Given the description of an element on the screen output the (x, y) to click on. 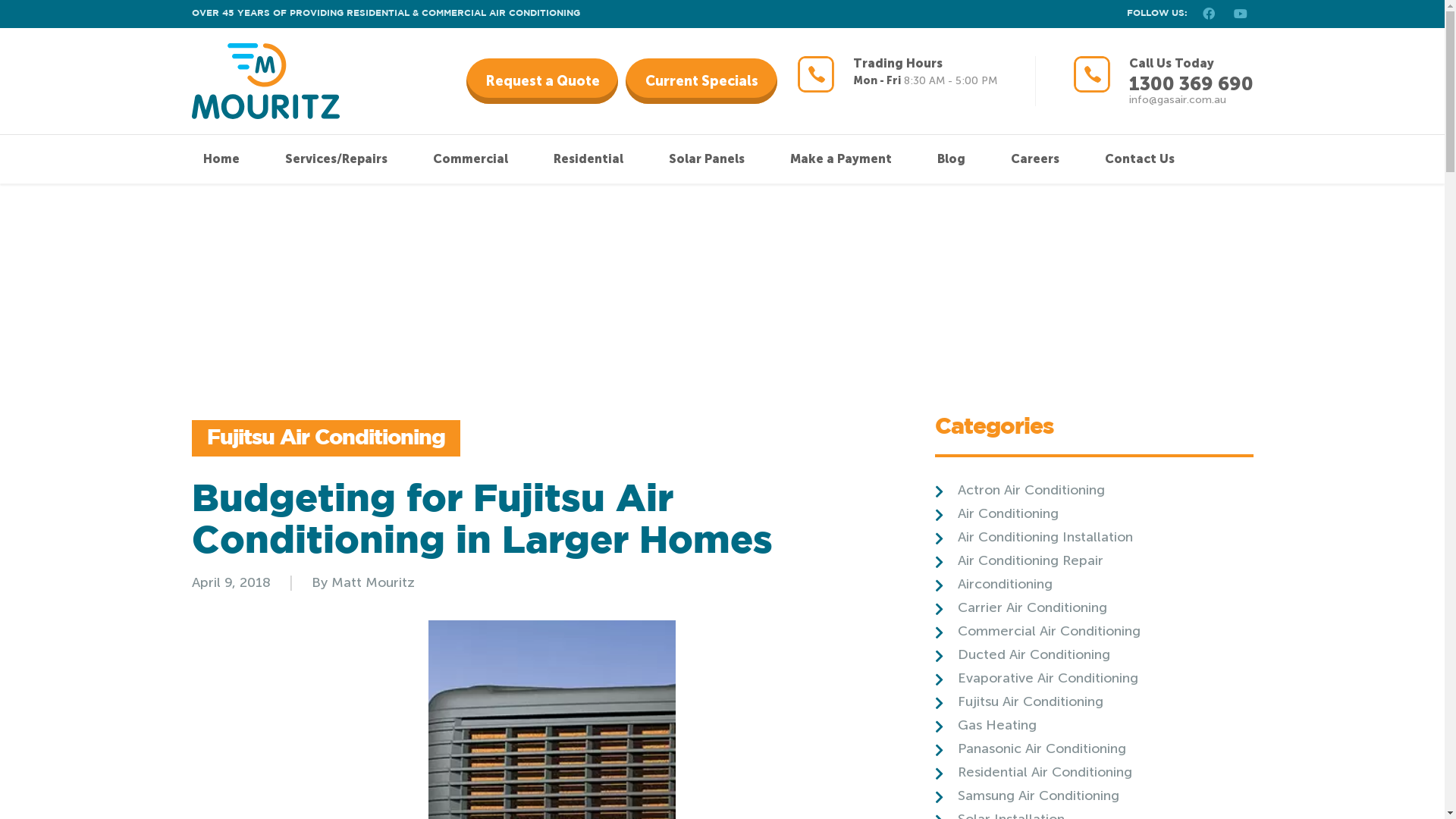
Blog Element type: text (951, 158)
Panasonic Air Conditioning Element type: text (1029, 748)
Home Element type: text (221, 158)
Commercial Air Conditioning Element type: text (1036, 630)
Residential Air Conditioning Element type: text (1032, 771)
Airconditioning Element type: text (992, 583)
Residential Element type: text (588, 158)
Actron Air Conditioning Element type: text (1019, 489)
Fujitsu Air Conditioning Element type: text (1018, 701)
Evaporative Air Conditioning Element type: text (1035, 677)
Make a Payment Element type: text (840, 158)
Carrier Air Conditioning Element type: text (1020, 607)
Air Conditioning Installation Element type: text (1033, 536)
Solar Panels Element type: text (706, 158)
Request a Quote Element type: text (542, 80)
Contact Us Element type: text (1138, 158)
Services/Repairs Element type: text (336, 158)
Samsung Air Conditioning Element type: text (1026, 795)
Air Conditioning Repair Element type: text (1018, 560)
Gas Heating Element type: text (984, 724)
1300 369 690 Element type: text (1190, 83)
Ducted Air Conditioning Element type: text (1021, 654)
Current Specials Element type: text (701, 80)
Air Conditioning Element type: text (995, 513)
Commercial Element type: text (469, 158)
Careers Element type: text (1034, 158)
